Given the description of an element on the screen output the (x, y) to click on. 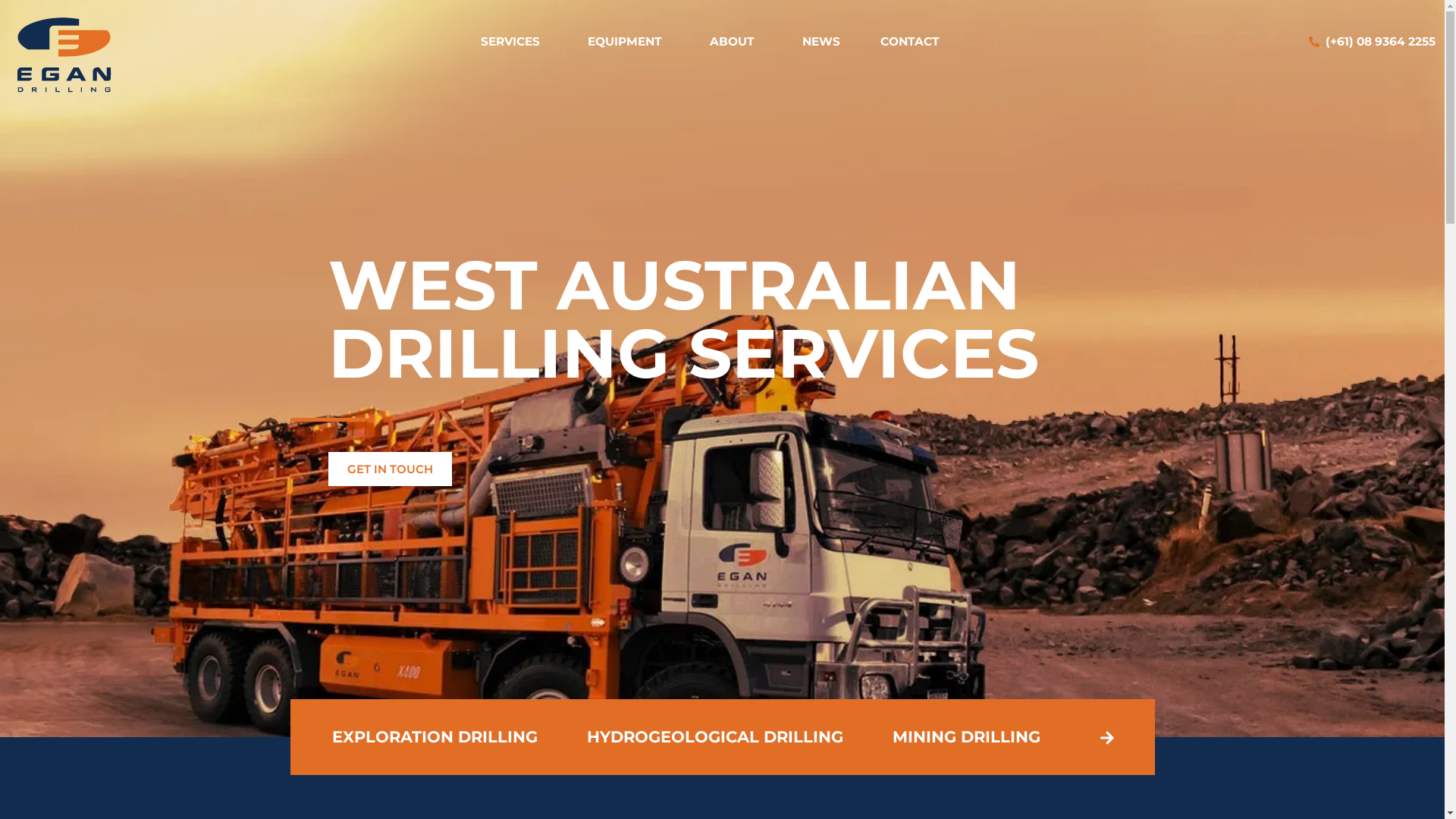
CONTACT Element type: text (909, 41)
SERVICES Element type: text (513, 41)
Egan_100 Element type: hover (63, 54)
ABOUT Element type: text (735, 41)
EQUIPMENT Element type: text (628, 41)
(+61) 08 9364 2255 Element type: text (1372, 41)
HYDROGEOLOGICAL DRILLING Element type: text (714, 736)
GET IN TOUCH Element type: text (389, 468)
EXPLORATION DRILLING Element type: text (434, 736)
NEWS Element type: text (821, 41)
MINING DRILLING Element type: text (965, 736)
